Given the description of an element on the screen output the (x, y) to click on. 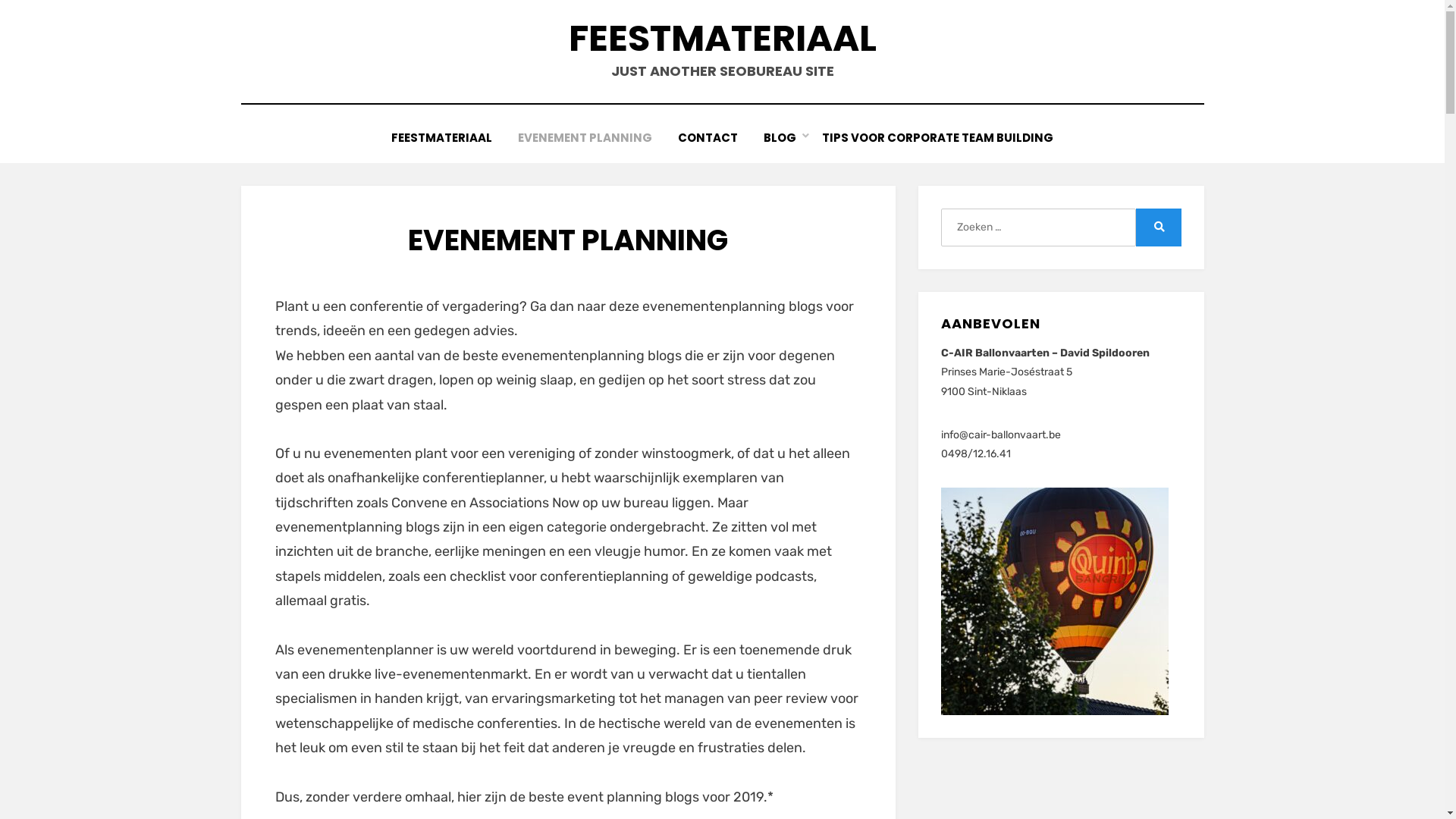
EVENEMENT PLANNING Element type: text (585, 137)
BLOG Element type: text (779, 137)
Zoeken naar: Element type: hover (1038, 227)
Zoeken Element type: text (1158, 227)
info@cair-ballonvaart.be Element type: text (1000, 434)
0498/12.16.41 Element type: text (975, 453)
FEESTMATERIAAL Element type: text (441, 137)
CONTACT Element type: text (707, 137)
FEESTMATERIAAL Element type: text (722, 37)
TIPS VOOR CORPORATE TEAM BUILDING Element type: text (937, 137)
